Given the description of an element on the screen output the (x, y) to click on. 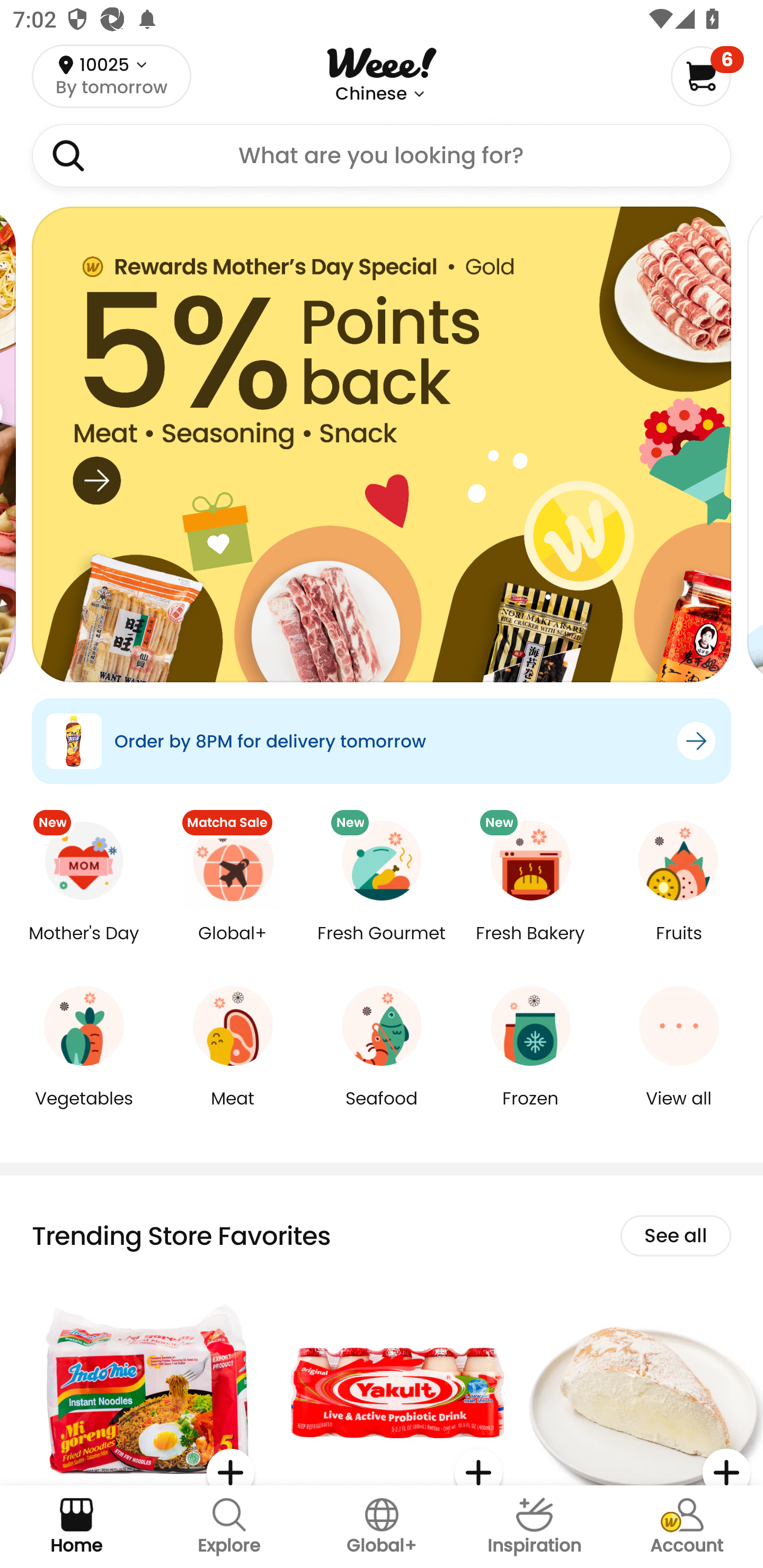
10025 By tomorrow (111, 75)
6 (706, 75)
Chinese (370, 93)
What are you looking for? (381, 155)
Order by 8PM for delivery tomorrow (381, 740)
Mother's Day (83, 946)
Global+ (232, 946)
Fresh Gourmet (381, 946)
Fresh Bakery (530, 946)
Fruits (678, 946)
Vegetables (83, 1111)
Meat (232, 1111)
Seafood (381, 1111)
Frozen (530, 1111)
View all (678, 1111)
Home (76, 1526)
Explore (228, 1526)
Global+ (381, 1526)
Inspiration (533, 1526)
Account (686, 1526)
